Given the description of an element on the screen output the (x, y) to click on. 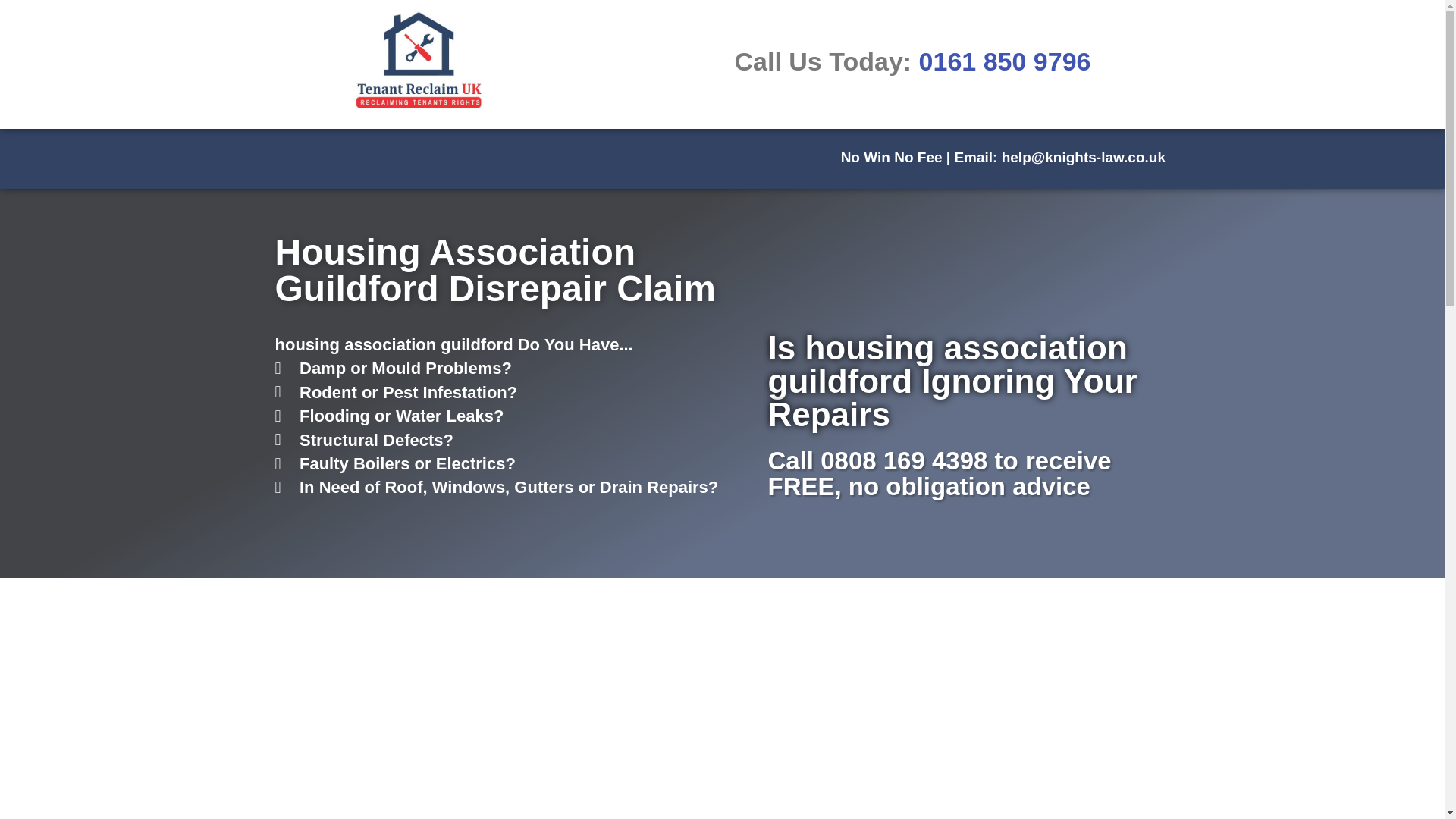
Damp or Mould Problems? (513, 368)
Flooding or Water Leaks? (513, 415)
Faulty Boilers or Electrics? (513, 463)
Structural Defects? (513, 440)
Rodent or Pest Infestation? (513, 392)
In Need of Roof, Windows, Gutters or Drain Repairs? (513, 486)
0161 850 9796 (1004, 61)
